Given the description of an element on the screen output the (x, y) to click on. 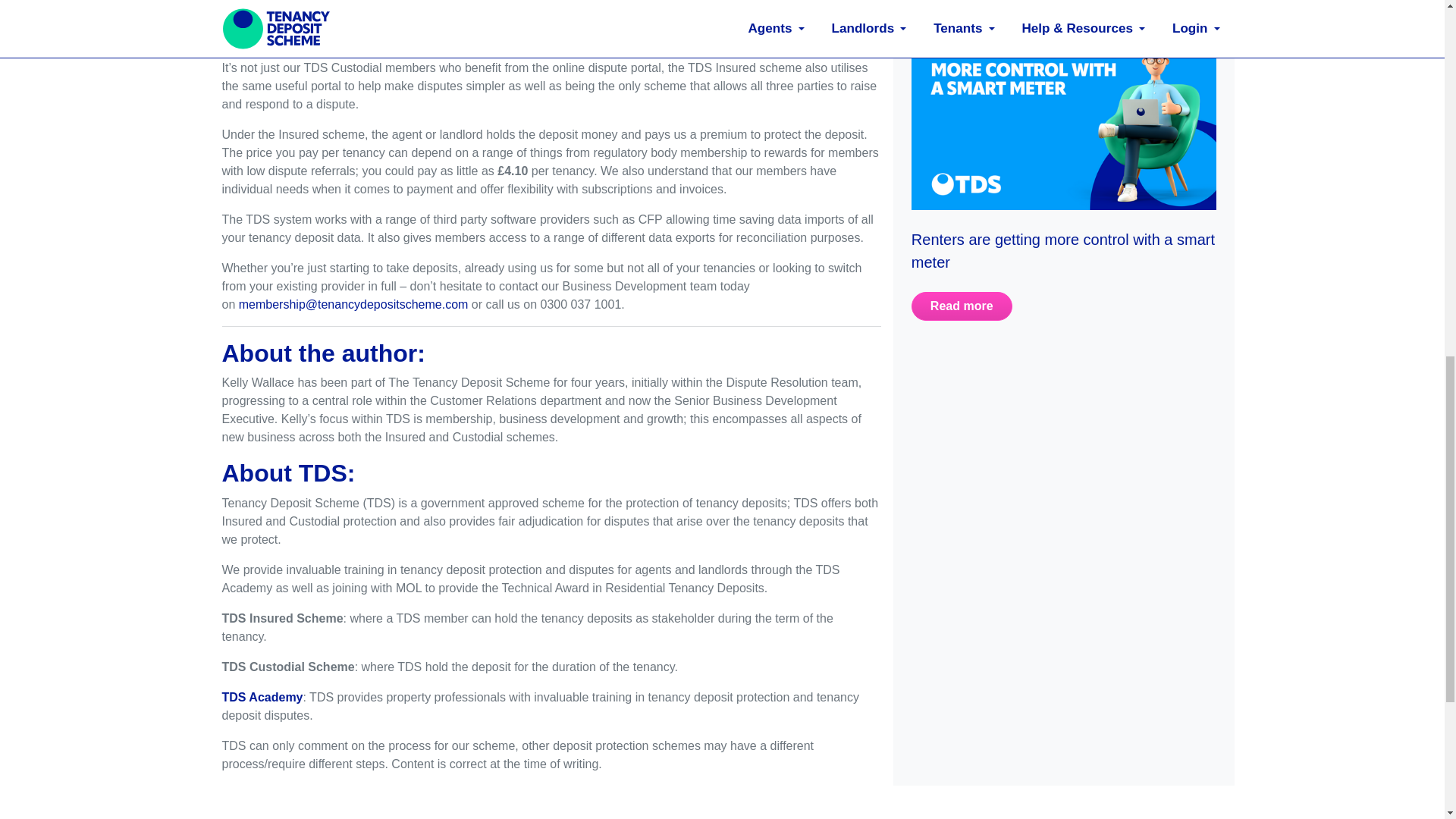
TDS Academy (261, 697)
